Given the description of an element on the screen output the (x, y) to click on. 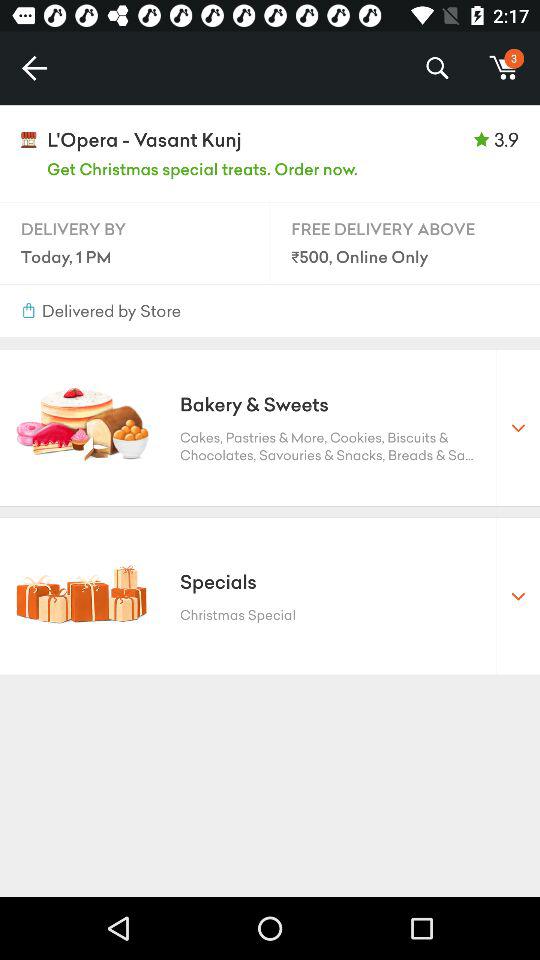
choose the item to the right of the % (503, 67)
